Given the description of an element on the screen output the (x, y) to click on. 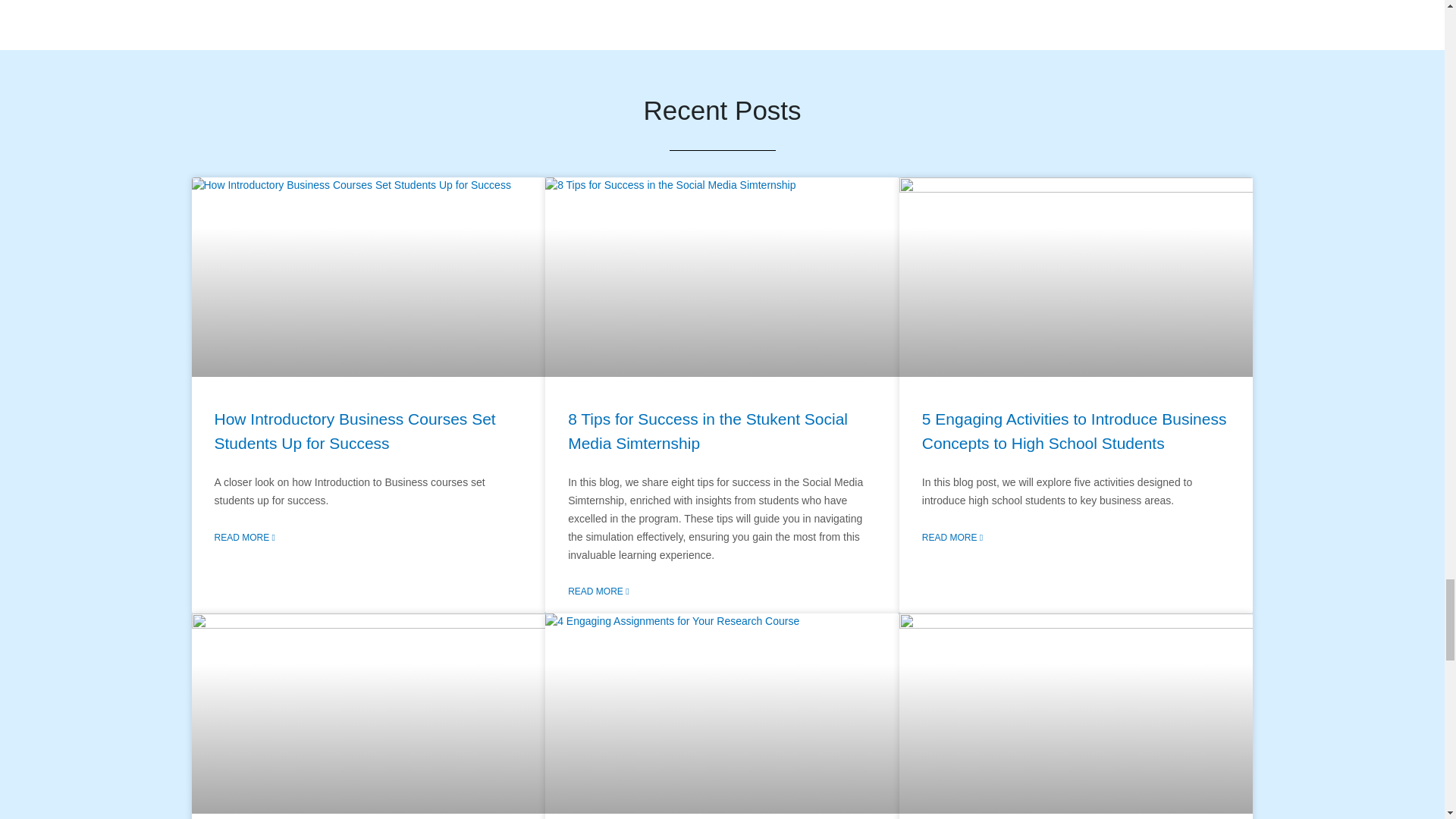
READ MORE (244, 537)
READ MORE (951, 537)
8 Tips for Success in the Stukent Social Media Simternship (707, 431)
READ MORE (597, 591)
